Given the description of an element on the screen output the (x, y) to click on. 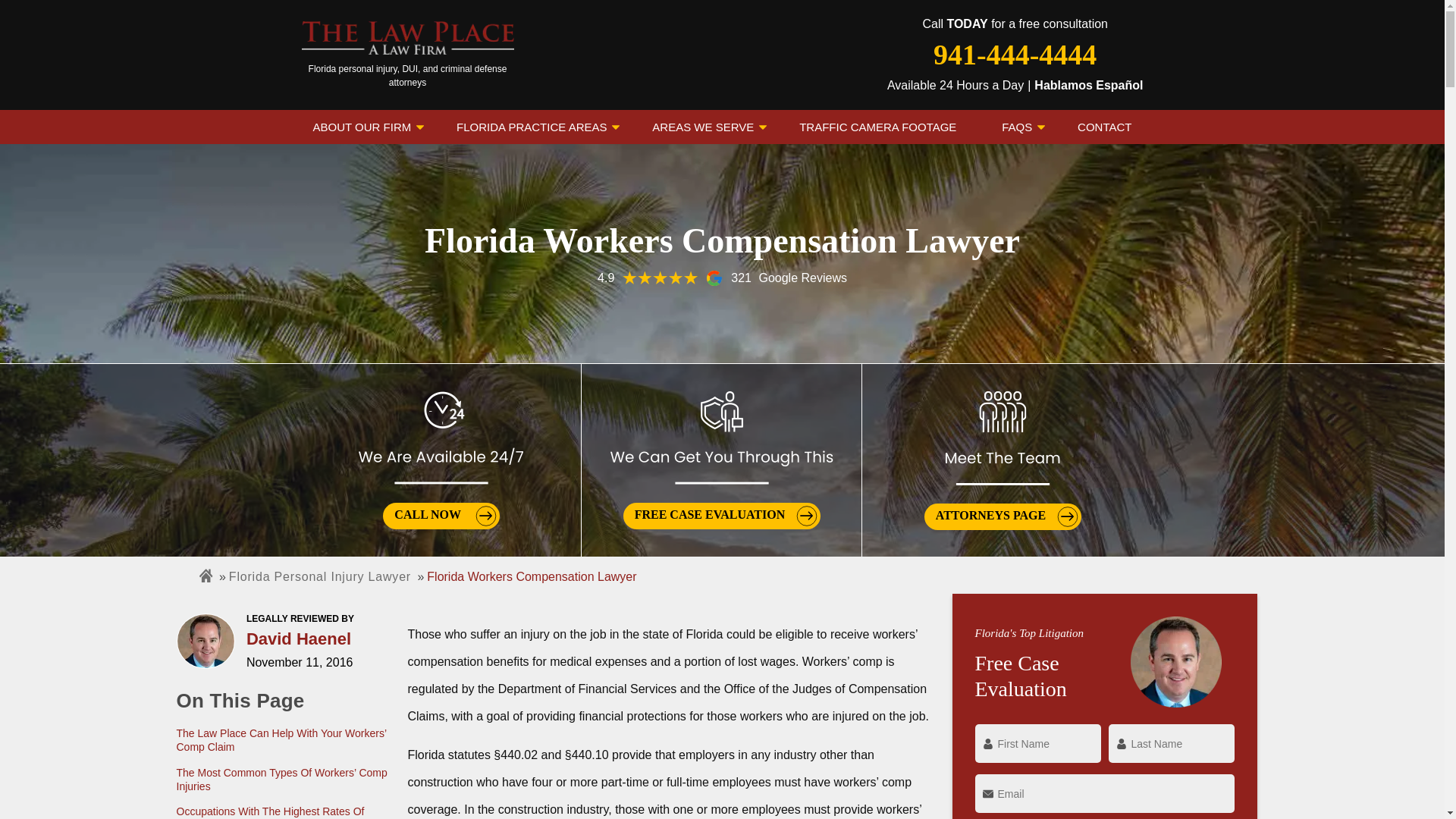
We Can Get You Through This (721, 437)
Contact The Law Place, LLC (1103, 126)
AREAS WE SERVE (702, 126)
David Haenel (205, 642)
FLORIDA PRACTICE AREAS (531, 126)
Florida personal injury, DUI, and criminal defense attorneys (407, 55)
941-444-4444 (1014, 54)
Meet The Team (1001, 437)
ABOUT OUR FIRM (362, 126)
